Given the description of an element on the screen output the (x, y) to click on. 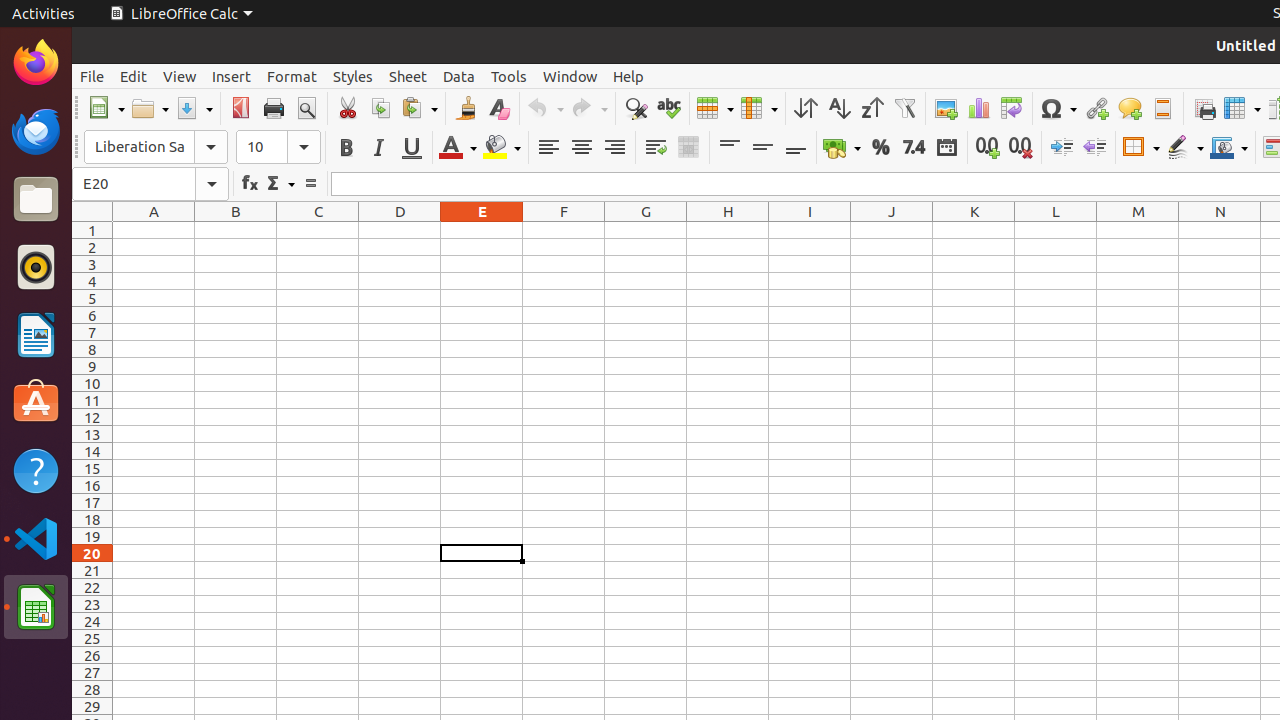
Thunderbird Mail Element type: push-button (36, 131)
B1 Element type: table-cell (236, 230)
Rhythmbox Element type: push-button (36, 267)
Chart Element type: push-button (978, 108)
Clear Element type: push-button (498, 108)
